Given the description of an element on the screen output the (x, y) to click on. 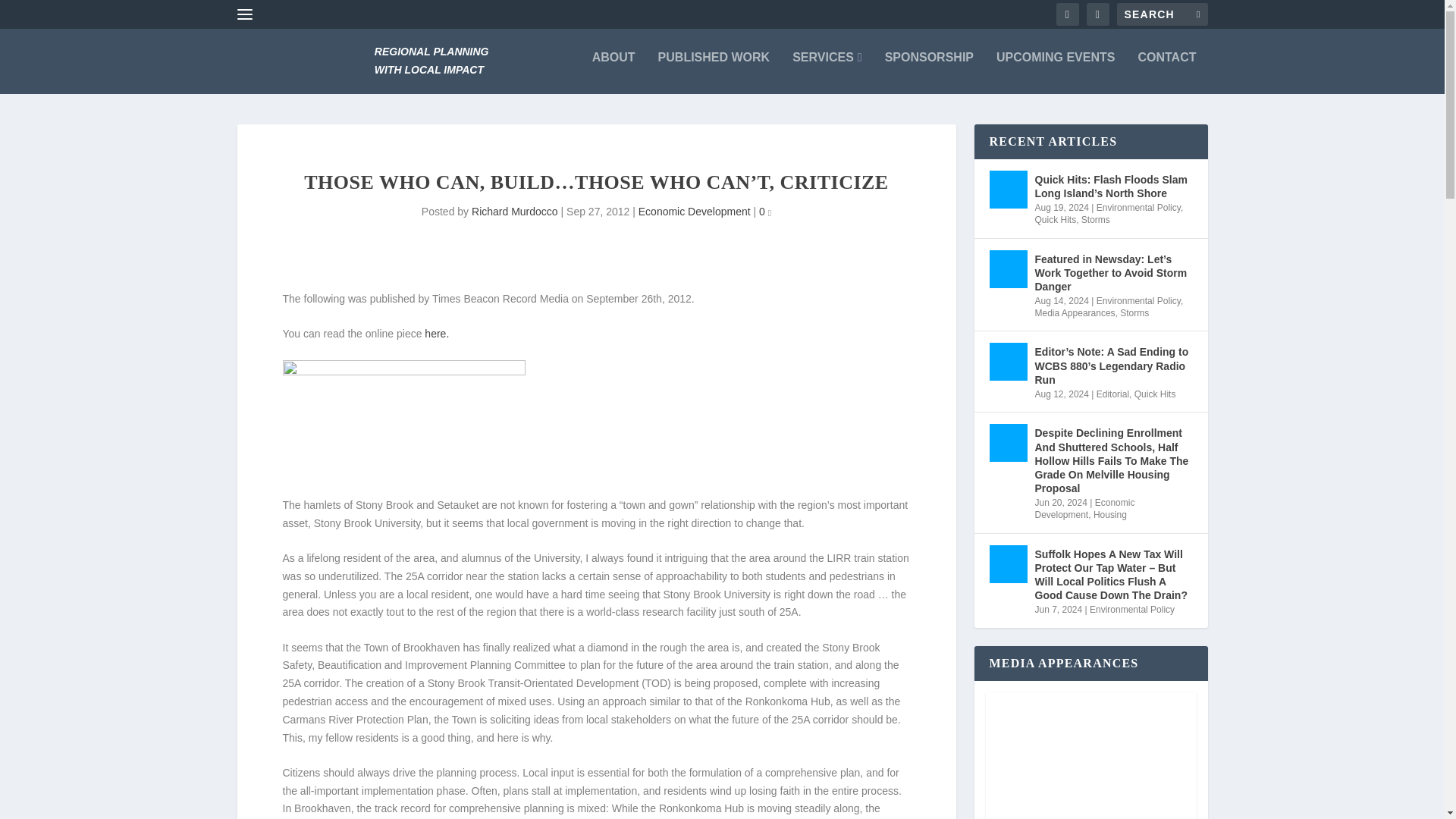
here. (436, 333)
CONTACT (1166, 61)
UPCOMING EVENTS (1055, 61)
0 (764, 211)
SERVICES (826, 61)
Search for: (1161, 14)
Richard Murdocco (514, 211)
SPONSORSHIP (929, 61)
Posts by Richard Murdocco (514, 211)
ABOUT (613, 61)
